Given the description of an element on the screen output the (x, y) to click on. 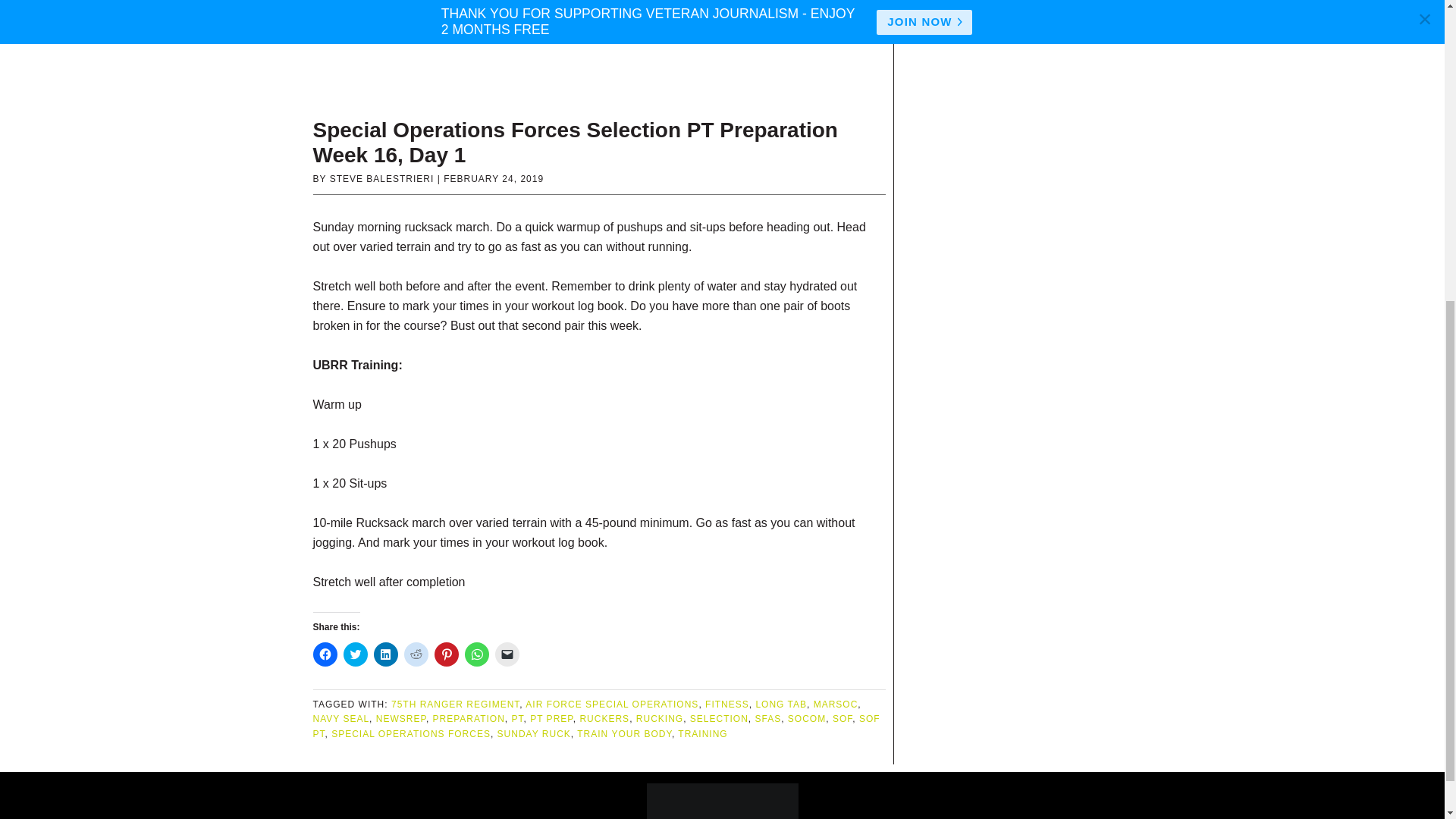
Click to share on Pinterest (445, 654)
STEVE BALESTRIERI (381, 178)
Click to share on Facebook (324, 654)
Click to share on Twitter (354, 654)
Click to share on WhatsApp (475, 654)
75TH RANGER REGIMENT (455, 704)
Click to share on LinkedIn (384, 654)
Click to share on Reddit (415, 654)
Click to email a link to a friend (506, 654)
